Given the description of an element on the screen output the (x, y) to click on. 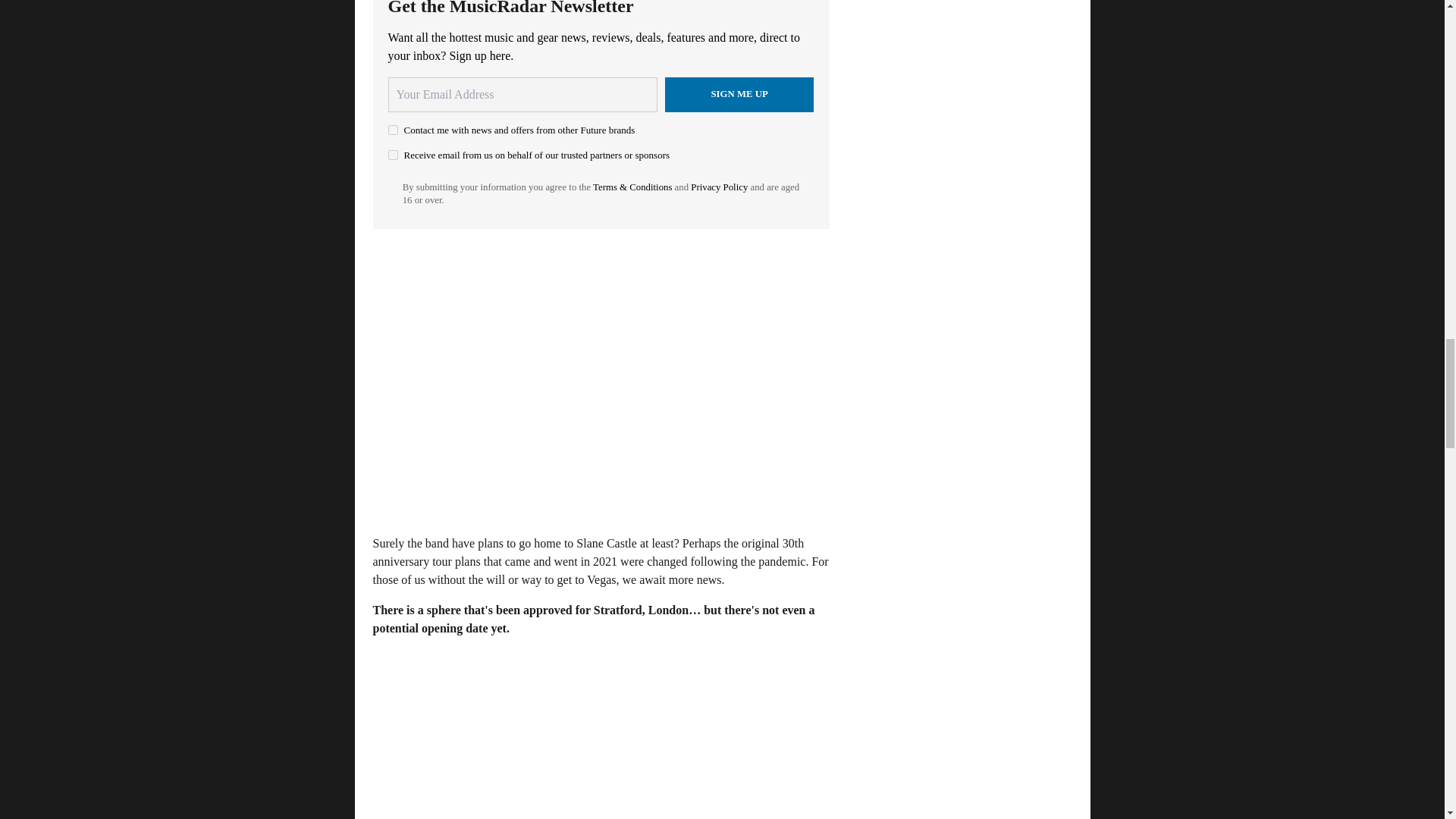
on (392, 130)
on (392, 154)
Sign me up (739, 94)
